Given the description of an element on the screen output the (x, y) to click on. 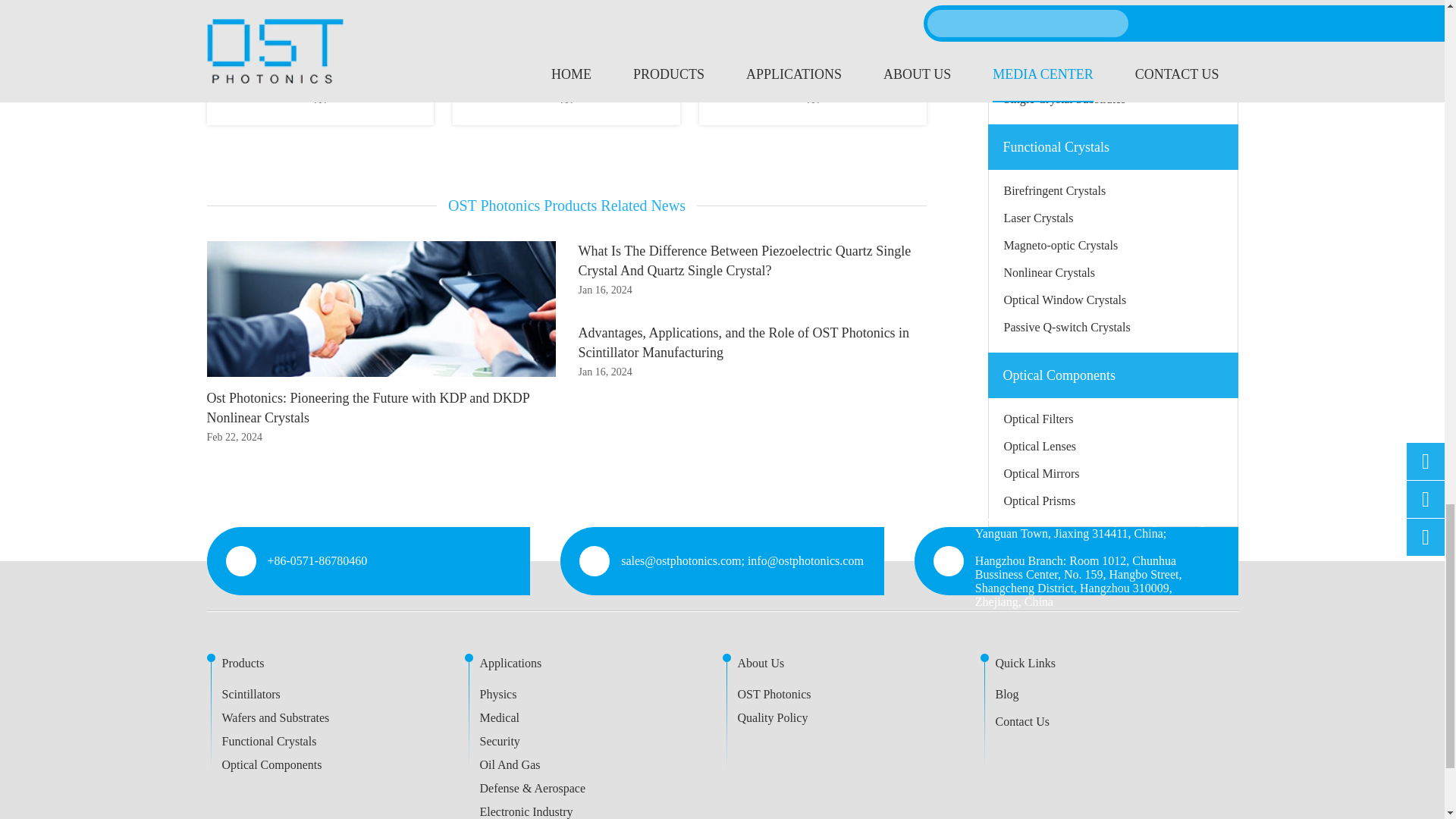
KTP Laser Nonlinear Crystals (319, 24)
SGGG Substrates (812, 24)
